Given the description of an element on the screen output the (x, y) to click on. 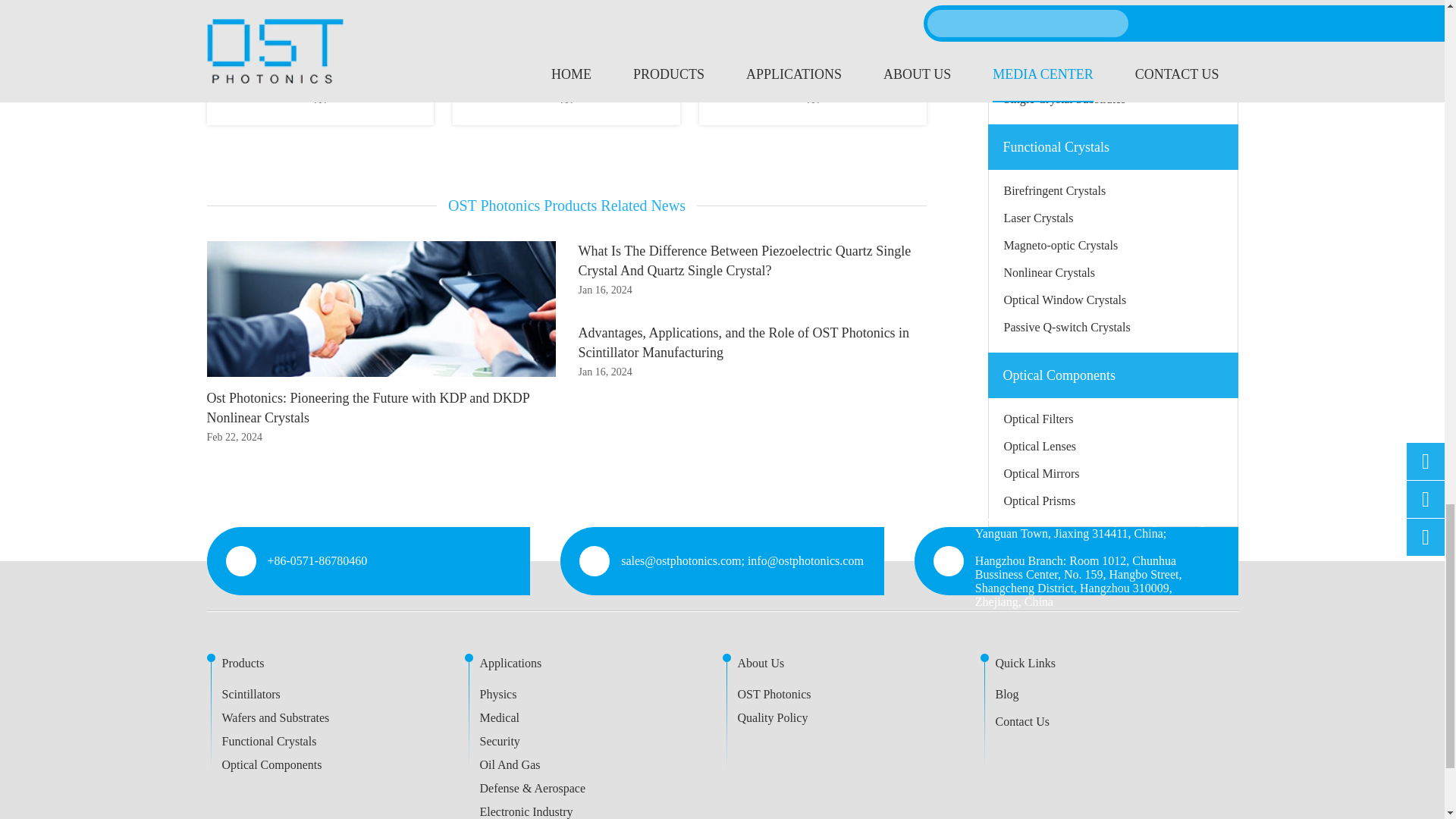
KTP Laser Nonlinear Crystals (319, 24)
SGGG Substrates (812, 24)
